Given the description of an element on the screen output the (x, y) to click on. 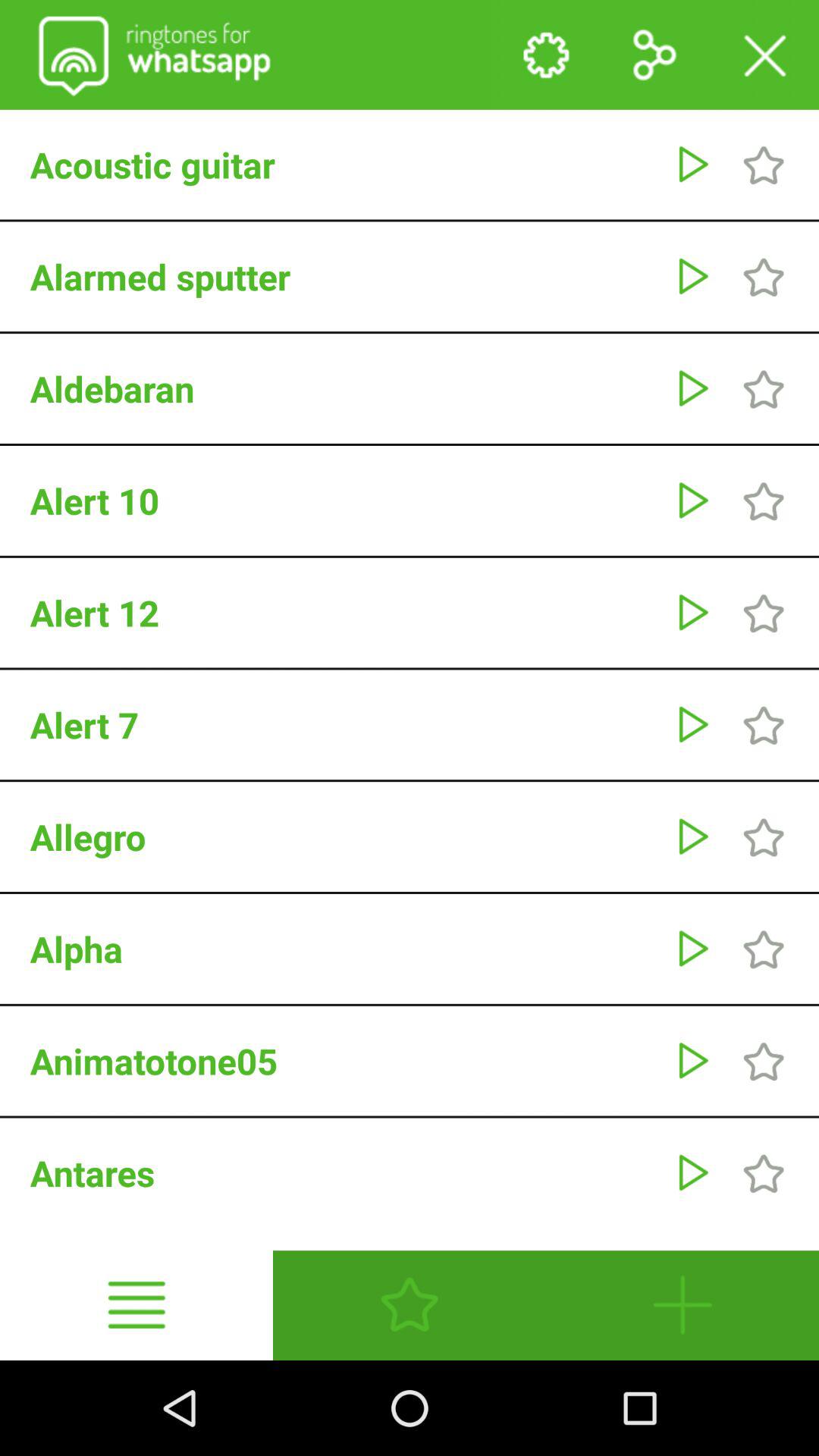
turn on the alert 10 app (344, 500)
